Given the description of an element on the screen output the (x, y) to click on. 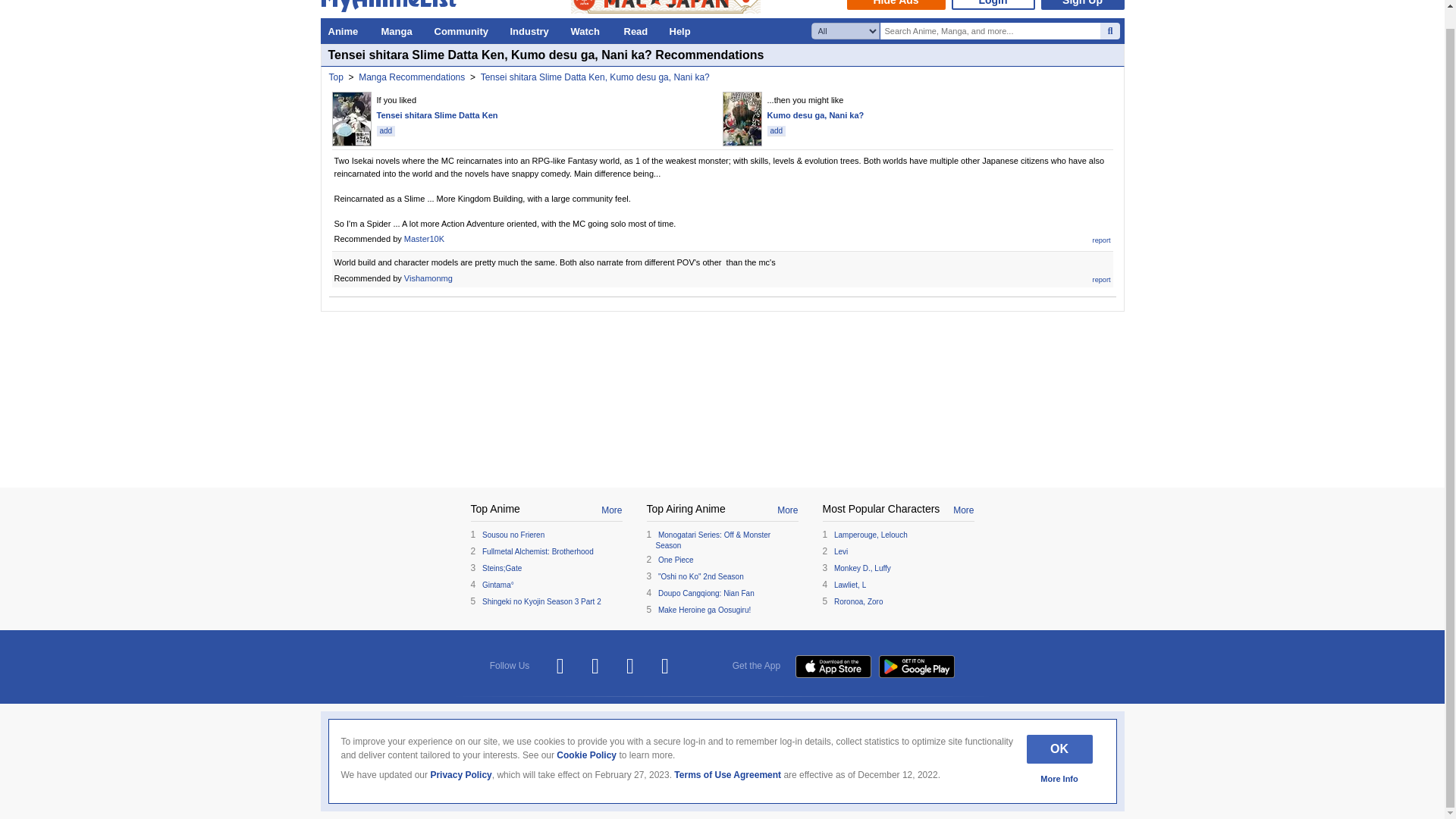
Watch (588, 31)
Anime (346, 31)
Tensei shitara Slime Datta Ken (436, 114)
Community (464, 31)
Sign Up (1082, 4)
Manga (399, 31)
MAL x JAPAN (665, 6)
Kumo desu ga, Nani ka? (815, 114)
Join Discord Chat (665, 666)
Login (991, 4)
